Given the description of an element on the screen output the (x, y) to click on. 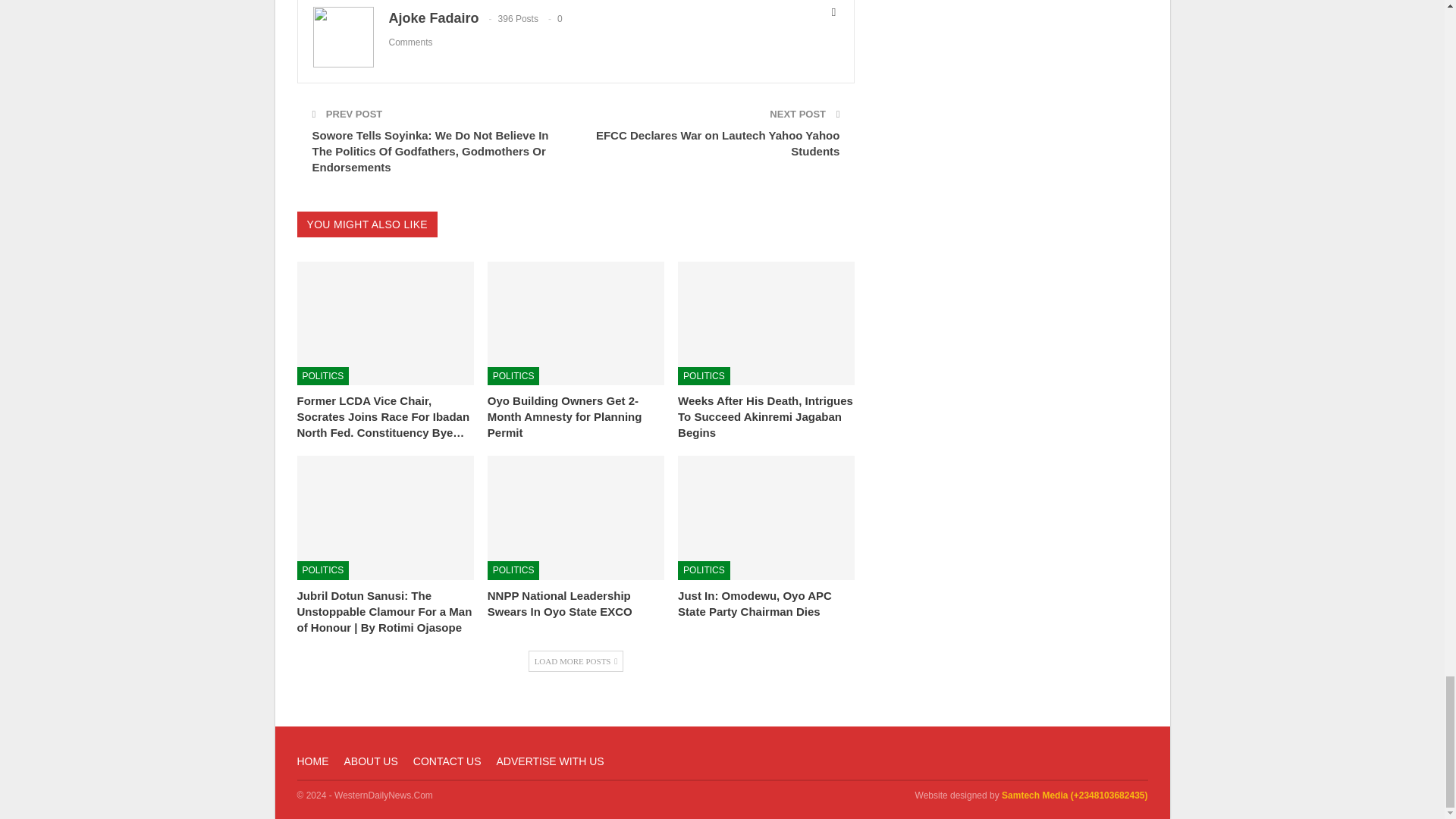
Oyo Building Owners Get 2-Month Amnesty for Planning Permit (564, 415)
Oyo Building Owners Get 2-Month Amnesty for Planning Permit (575, 322)
